Given the description of an element on the screen output the (x, y) to click on. 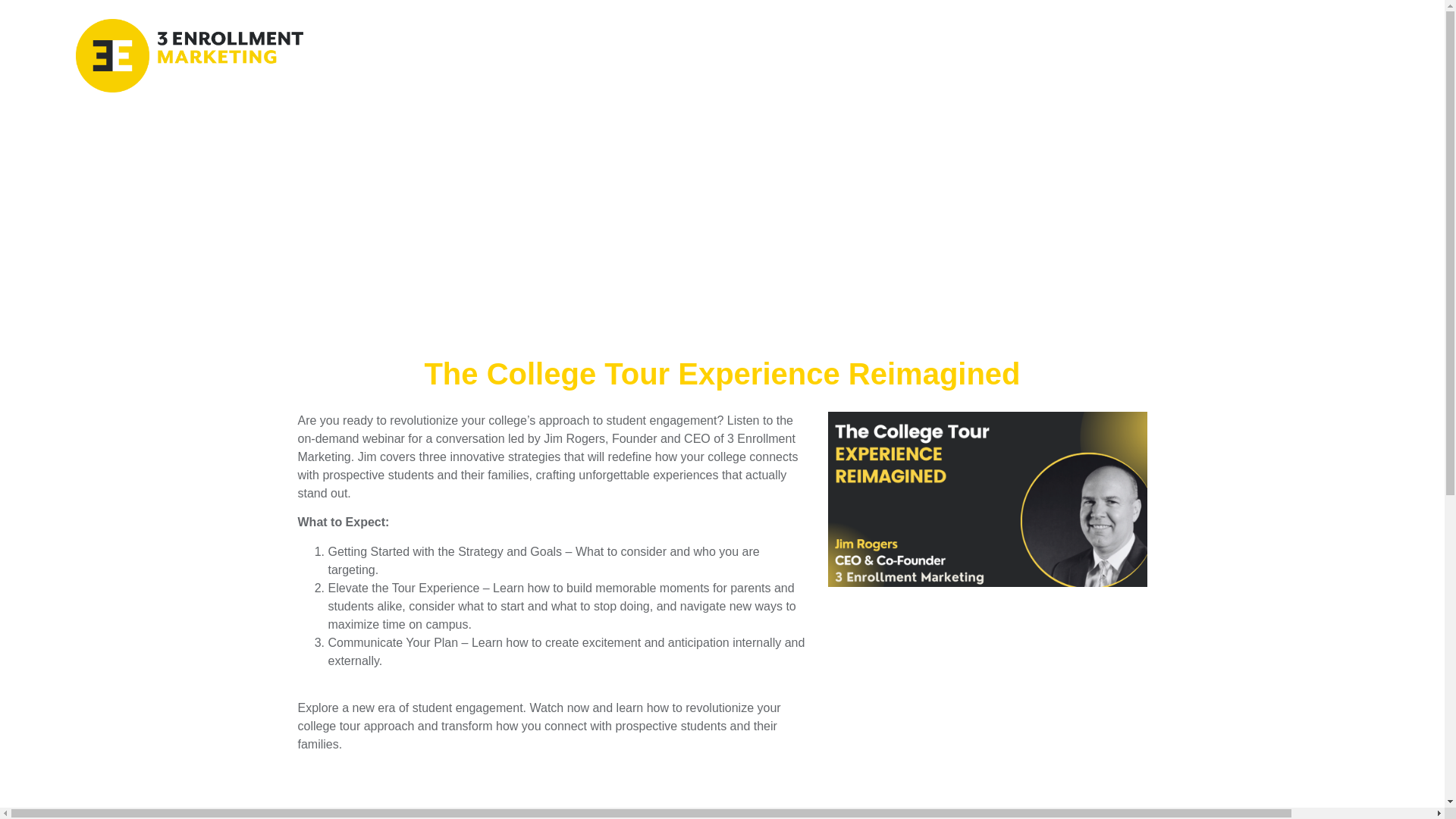
This is 3E (1211, 36)
3E Solutions (1025, 36)
Insights (1122, 36)
